Given the description of an element on the screen output the (x, y) to click on. 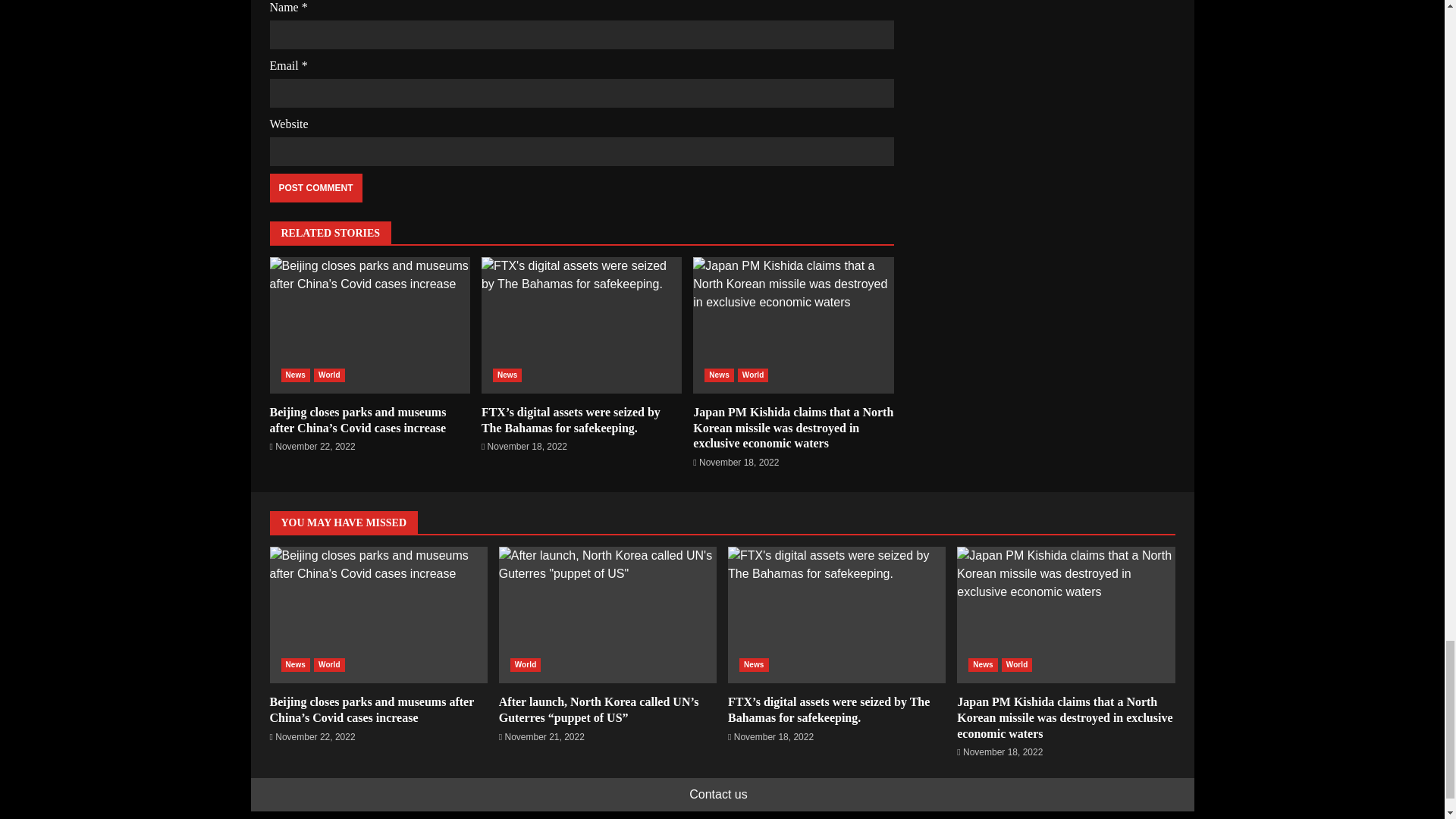
Post Comment (315, 187)
News (718, 375)
Post Comment (315, 187)
World (753, 375)
News (507, 375)
News (295, 375)
World (329, 375)
